Given the description of an element on the screen output the (x, y) to click on. 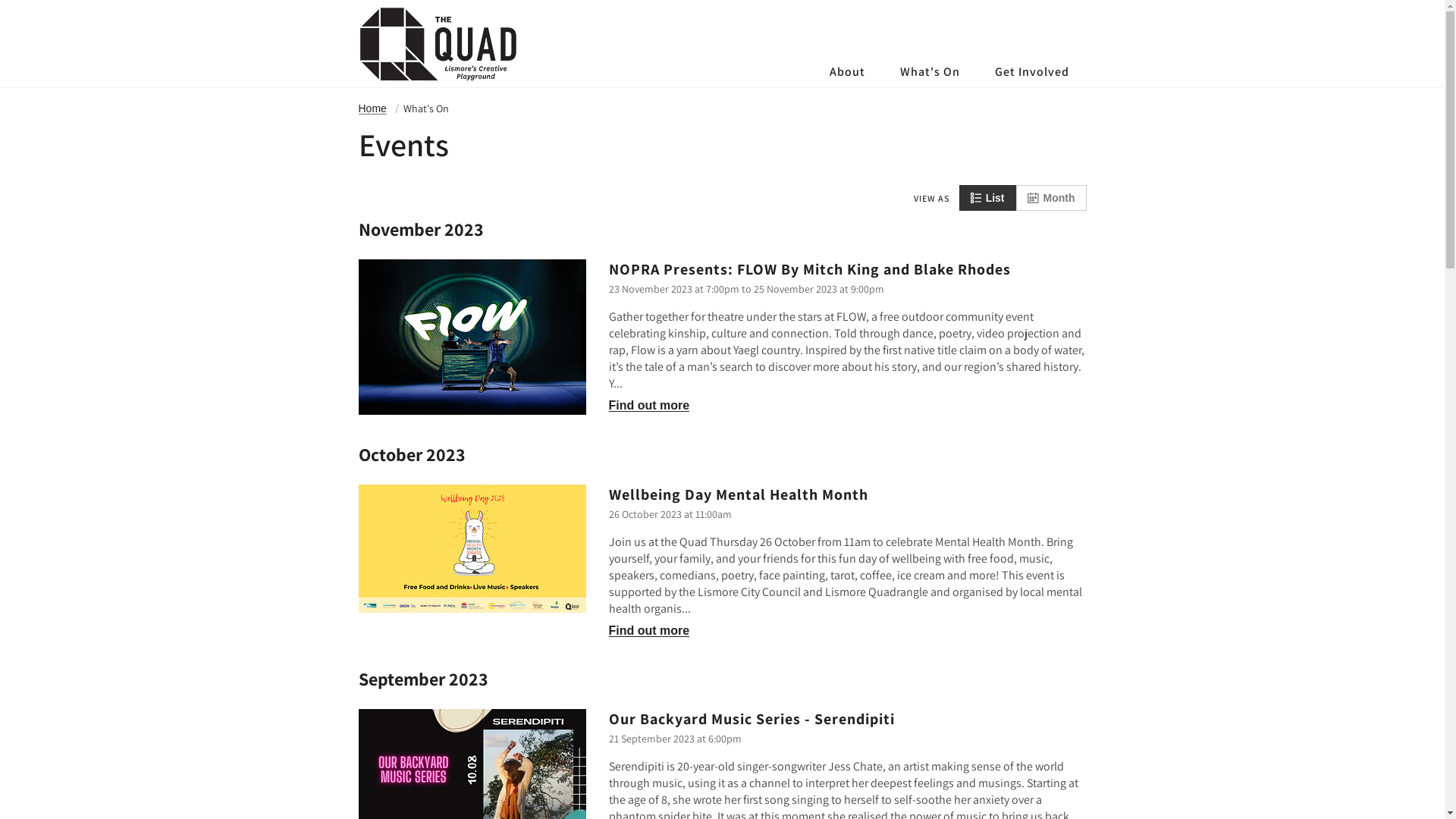
About Element type: text (846, 71)
Get Involved Element type: text (1030, 71)
List Element type: text (987, 197)
Home Element type: text (371, 108)
What's On Element type: text (929, 71)
Find out more Element type: text (648, 404)
The Quad Lismores creative playground Element type: hover (437, 44)
Find out more Element type: text (648, 630)
Month Element type: text (1051, 197)
